Given the description of an element on the screen output the (x, y) to click on. 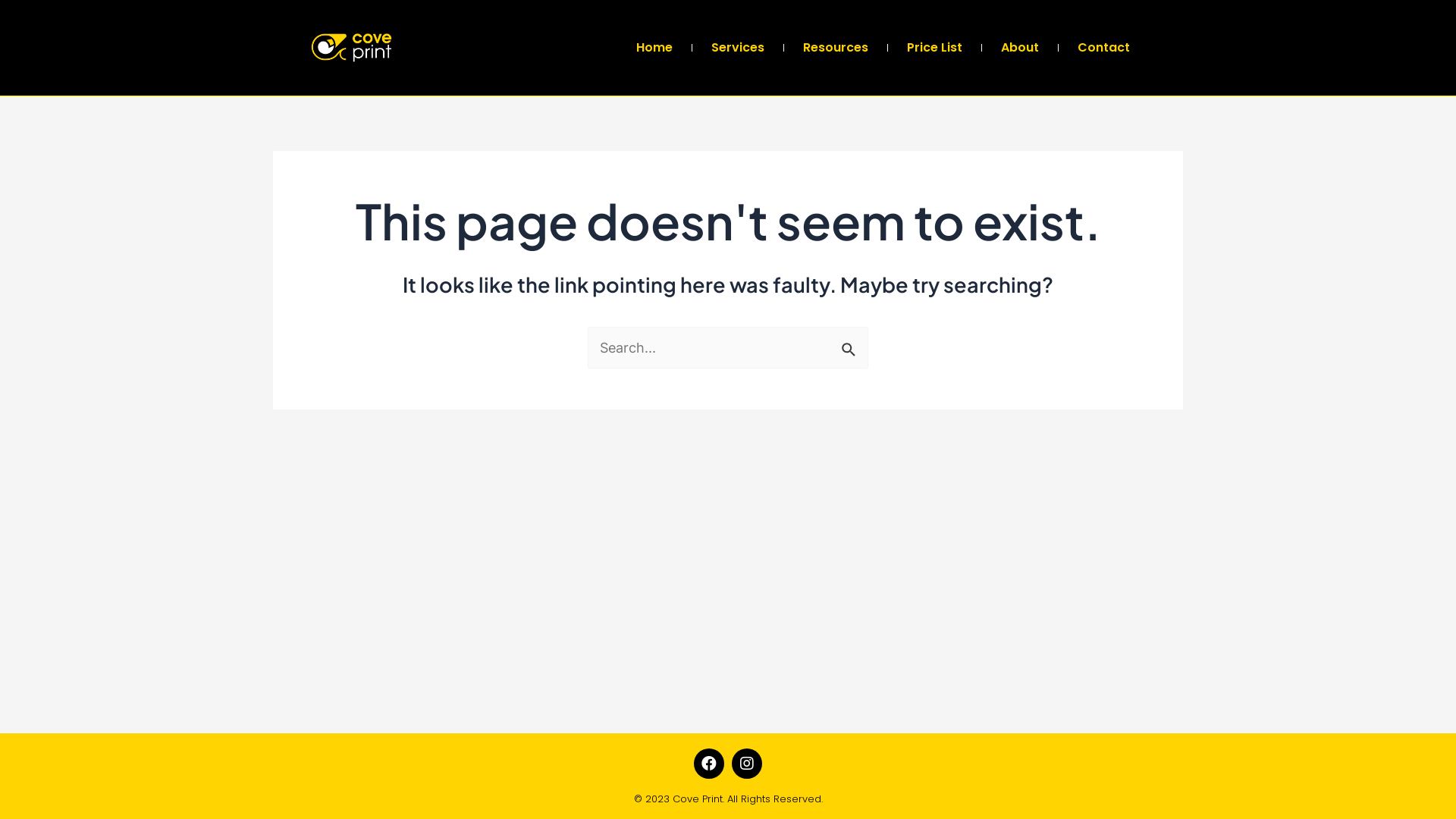
About Element type: text (1019, 47)
Search Element type: text (851, 343)
Services Element type: text (737, 47)
Contact Element type: text (1103, 47)
Resources Element type: text (835, 47)
Facebook Element type: text (708, 763)
Price List Element type: text (934, 47)
Home Element type: text (654, 47)
Instagram Element type: text (746, 763)
